Given the description of an element on the screen output the (x, y) to click on. 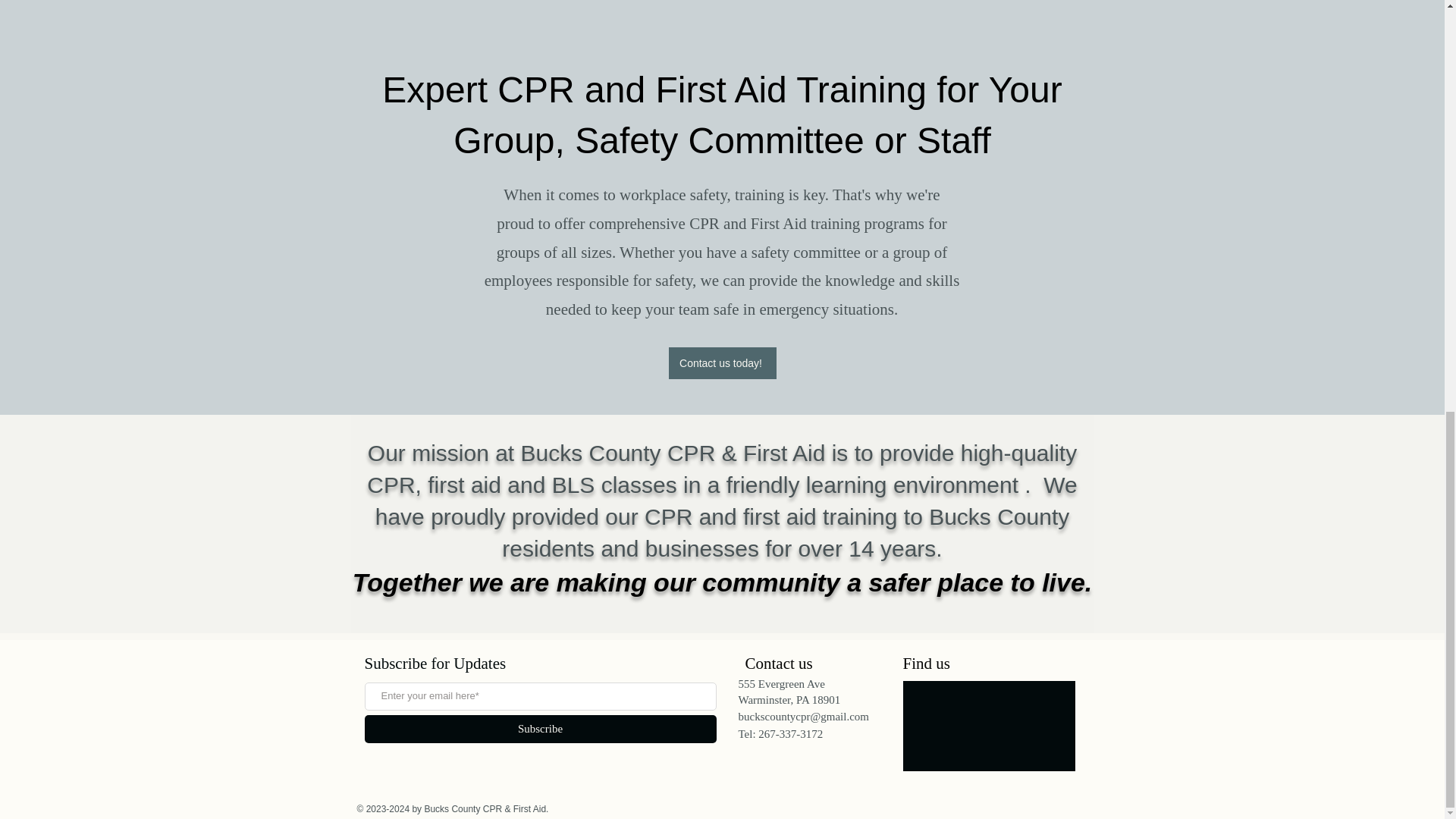
Contact us today! (722, 363)
Subscribe (540, 728)
